Given the description of an element on the screen output the (x, y) to click on. 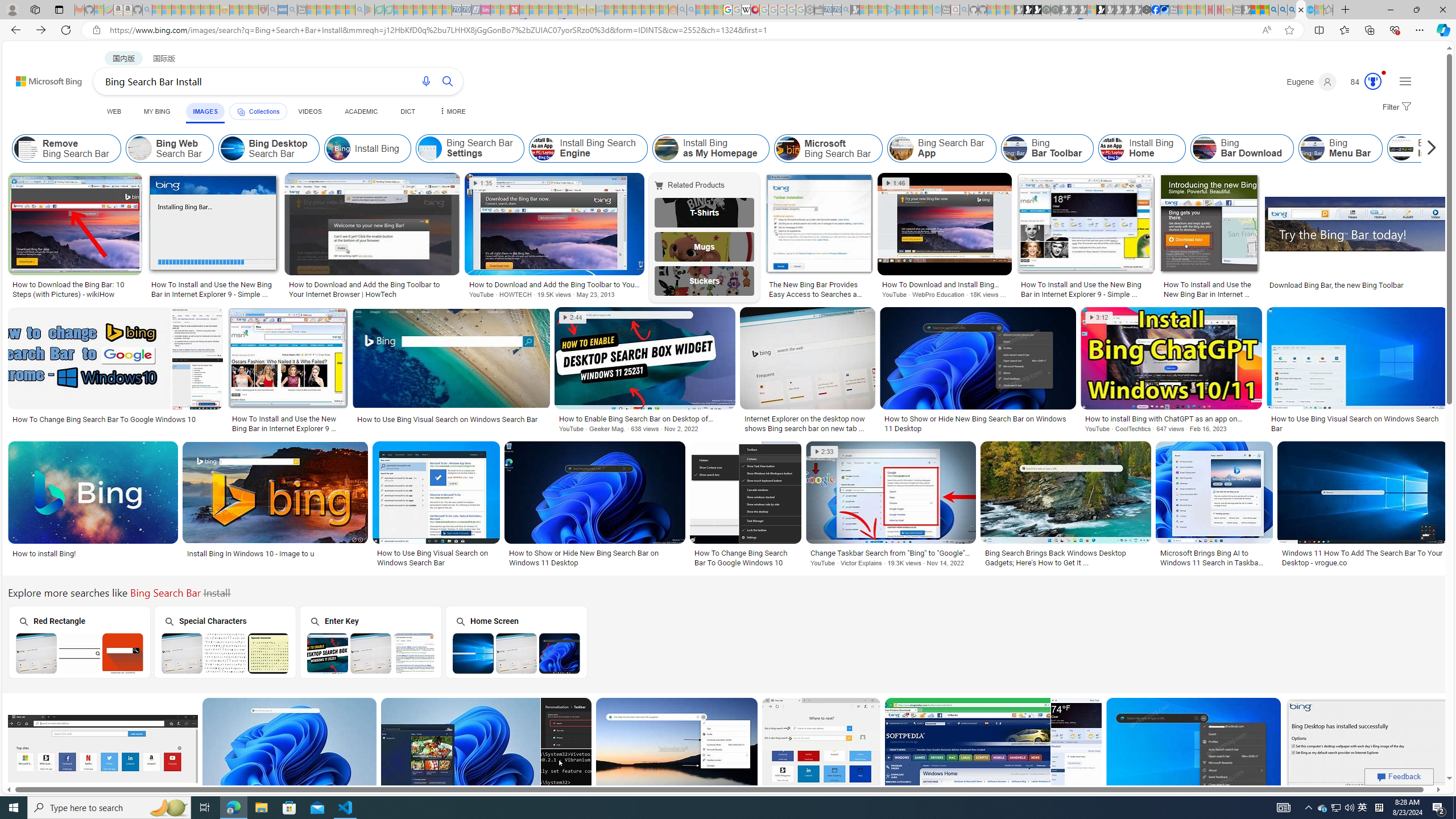
Remove Bing Search Bar (66, 148)
Image result for Bing Search Bar Install (1366, 748)
Home Screen (515, 641)
Bing Search Bar App (901, 148)
Remove Bing Search Bar (25, 148)
Bing Search Bar Special Characters (224, 652)
